Given the description of an element on the screen output the (x, y) to click on. 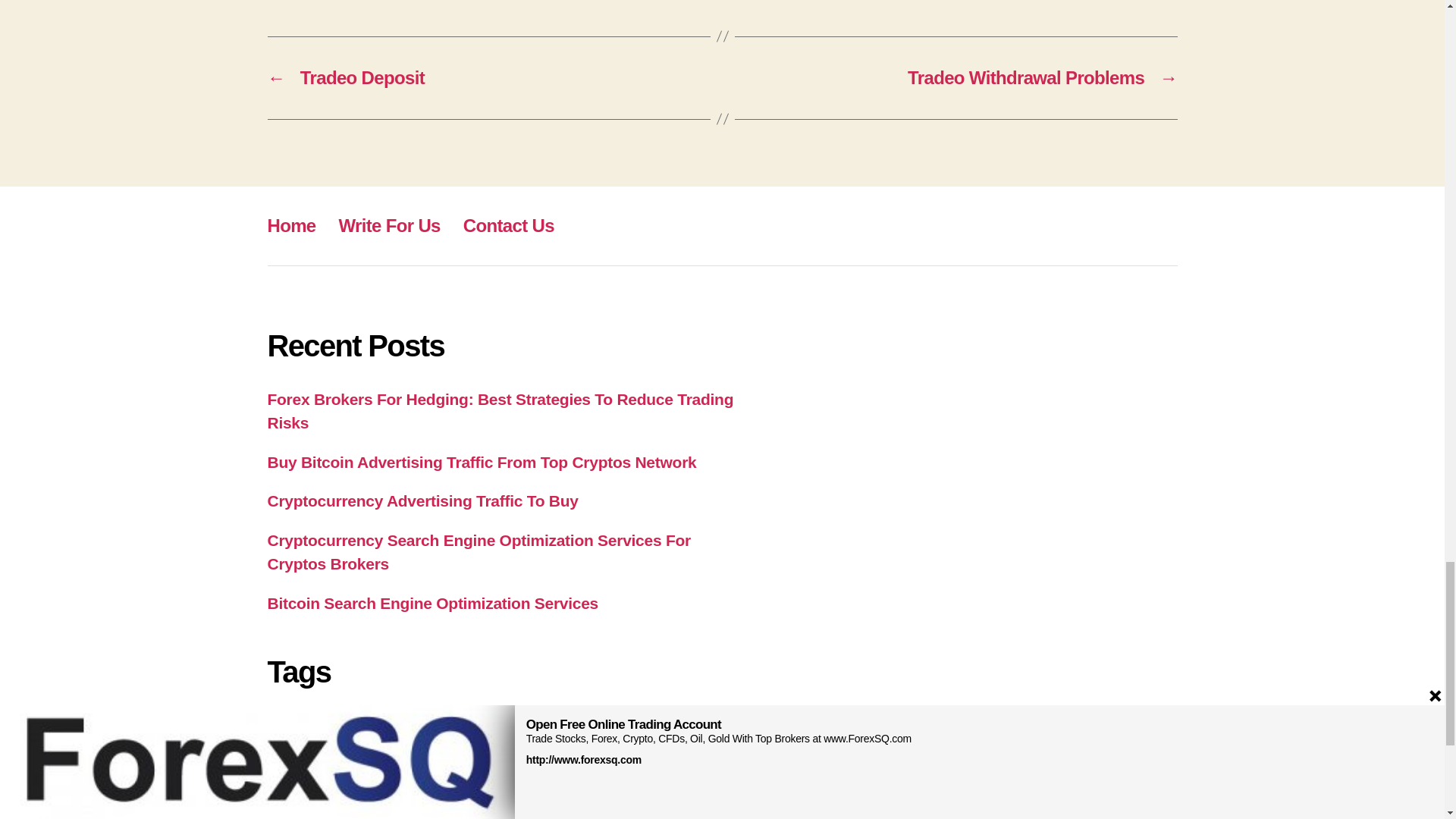
Best Forex Brokers (429, 724)
cryptocurrency guest post (648, 742)
Write For Us (390, 225)
bittrex support (313, 741)
cryptocurrency guest post website (330, 760)
Buy Bitcoin Advertising Traffic From Top Cryptos Network (480, 461)
Bitcoin Search Engine Optimization Services (432, 602)
content marketing institute (418, 742)
